Given the description of an element on the screen output the (x, y) to click on. 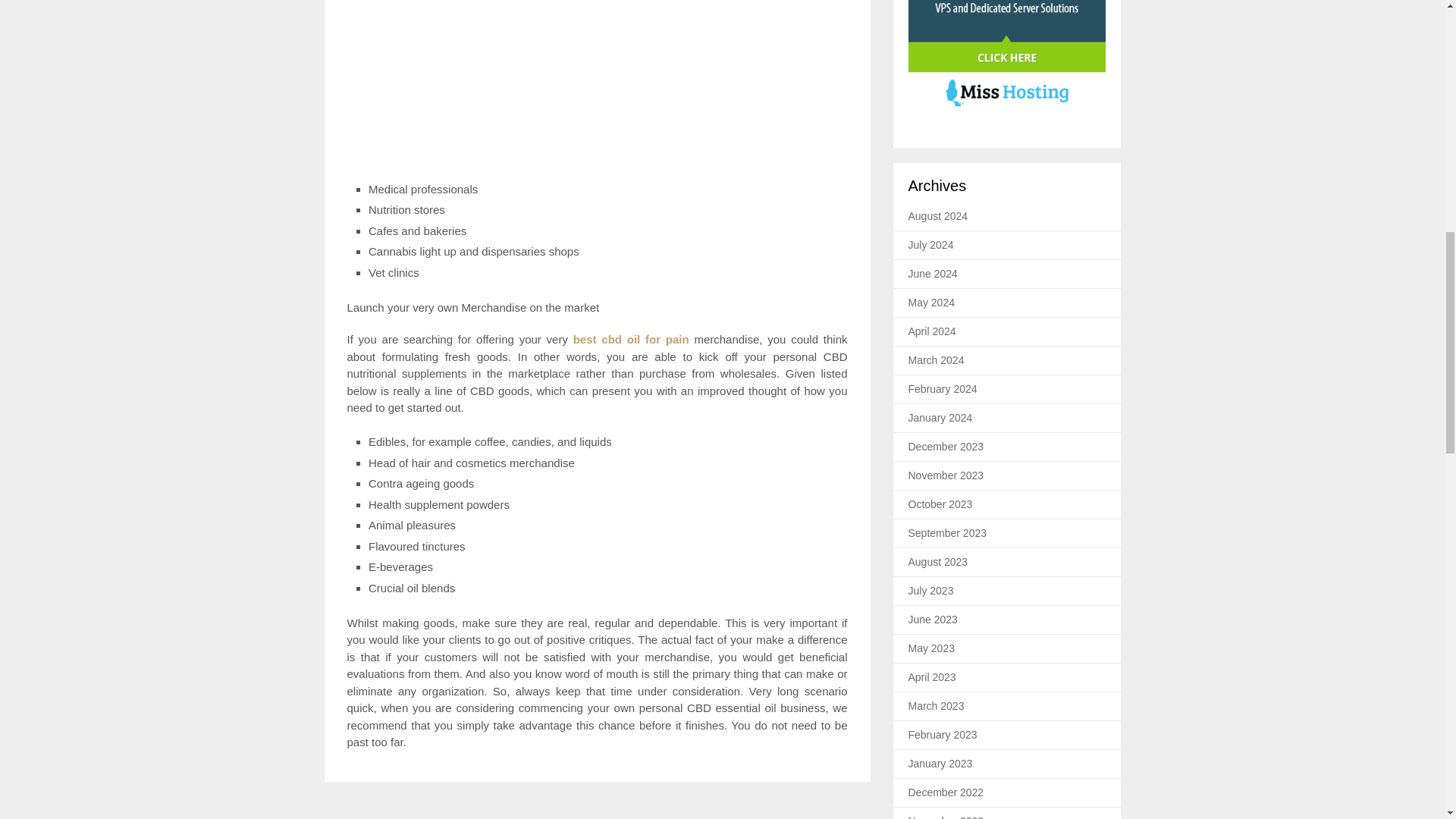
April 2024 (932, 331)
July 2024 (930, 244)
November 2022 (946, 816)
May 2024 (931, 302)
August 2024 (938, 215)
April 2023 (932, 676)
best cbd oil for pain (630, 338)
June 2024 (933, 273)
July 2023 (930, 590)
December 2023 (946, 446)
